Given the description of an element on the screen output the (x, y) to click on. 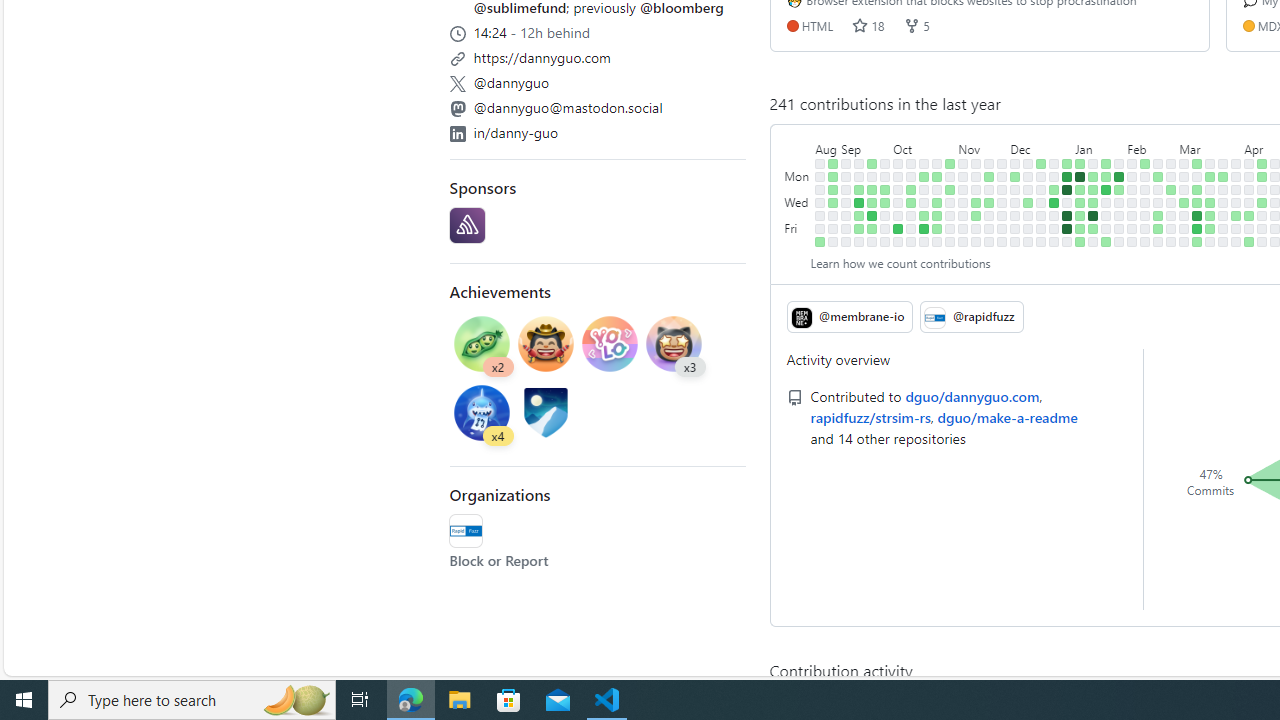
2 contributions on February 23rd. (1158, 228)
